Given the description of an element on the screen output the (x, y) to click on. 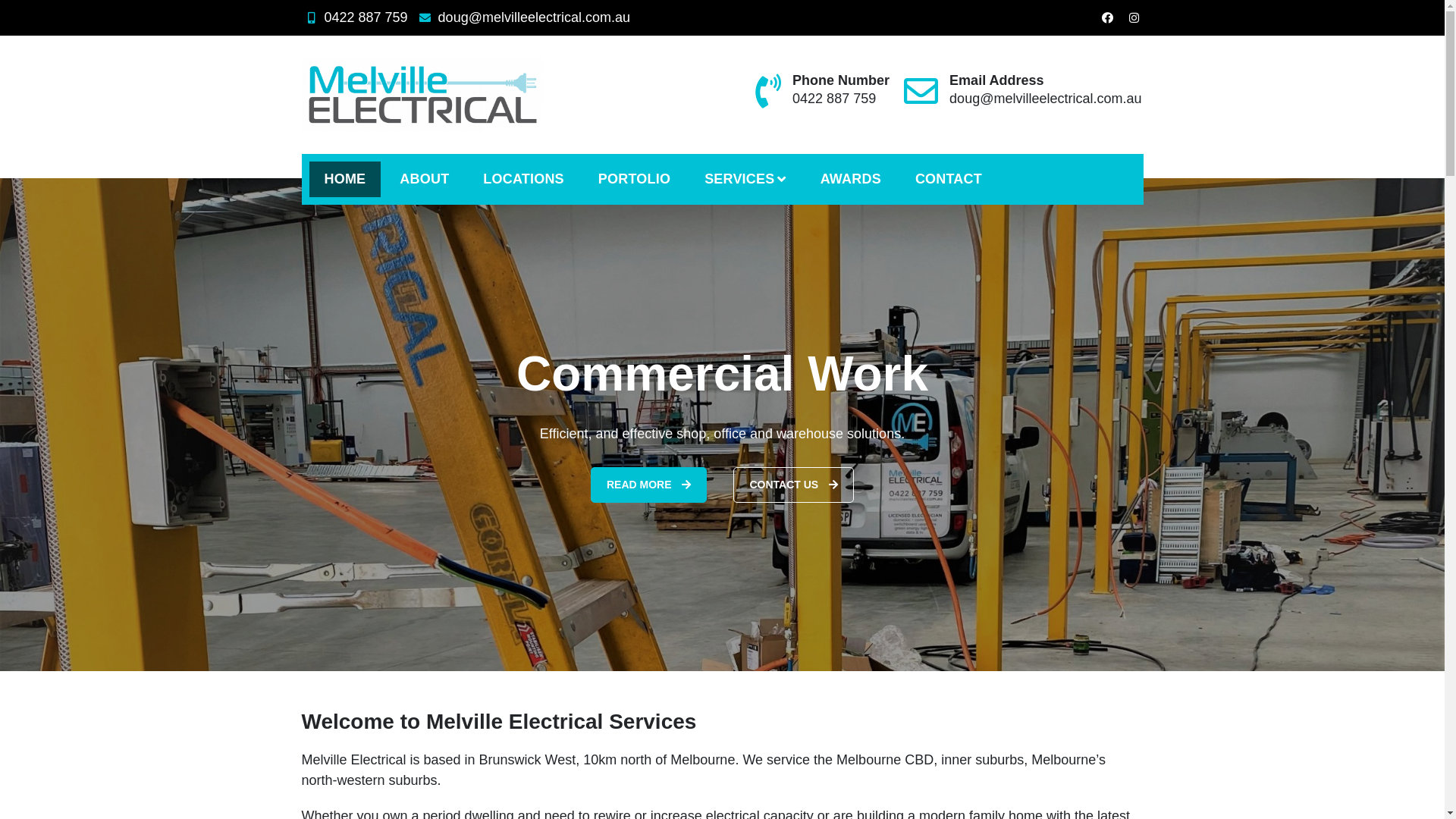
doug@melvilleelectrical.com.au Element type: text (522, 17)
AWARDS Element type: text (850, 179)
Melville Electrical Element type: text (415, 147)
READ MORE Element type: text (651, 484)
PORTOLIO Element type: text (634, 179)
SERVICES Element type: text (745, 179)
CONTACT US Element type: text (796, 484)
HOME Element type: text (345, 179)
ABOUT Element type: text (424, 179)
0422 887 759 Element type: text (354, 17)
CONTACT Element type: text (948, 179)
0422 887 759 Element type: text (833, 98)
LOCATIONS Element type: text (522, 179)
doug@melvilleelectrical.com.au Element type: text (1045, 98)
